Given the description of an element on the screen output the (x, y) to click on. 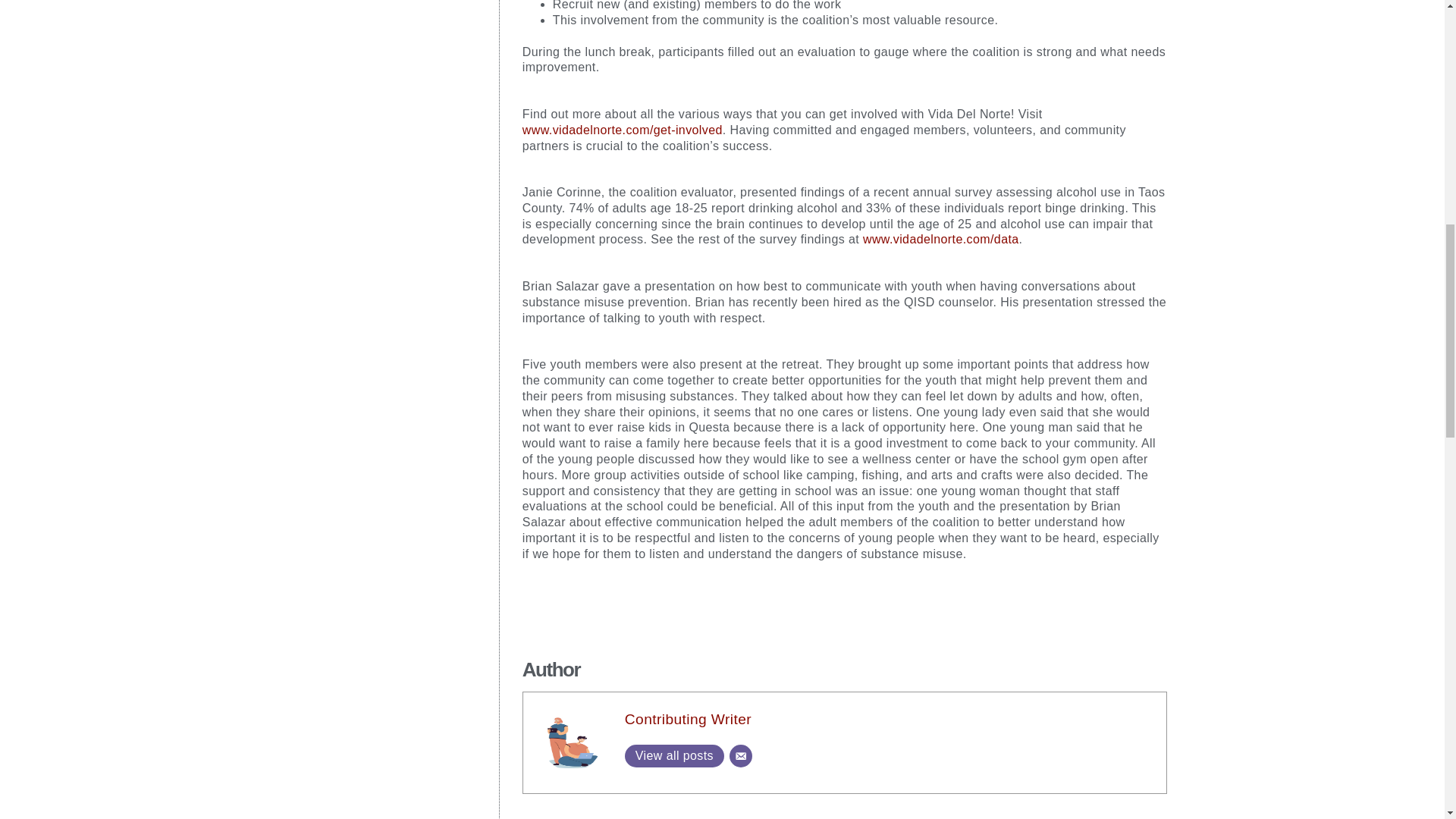
Contributing Writer (687, 719)
View all posts (673, 755)
